Given the description of an element on the screen output the (x, y) to click on. 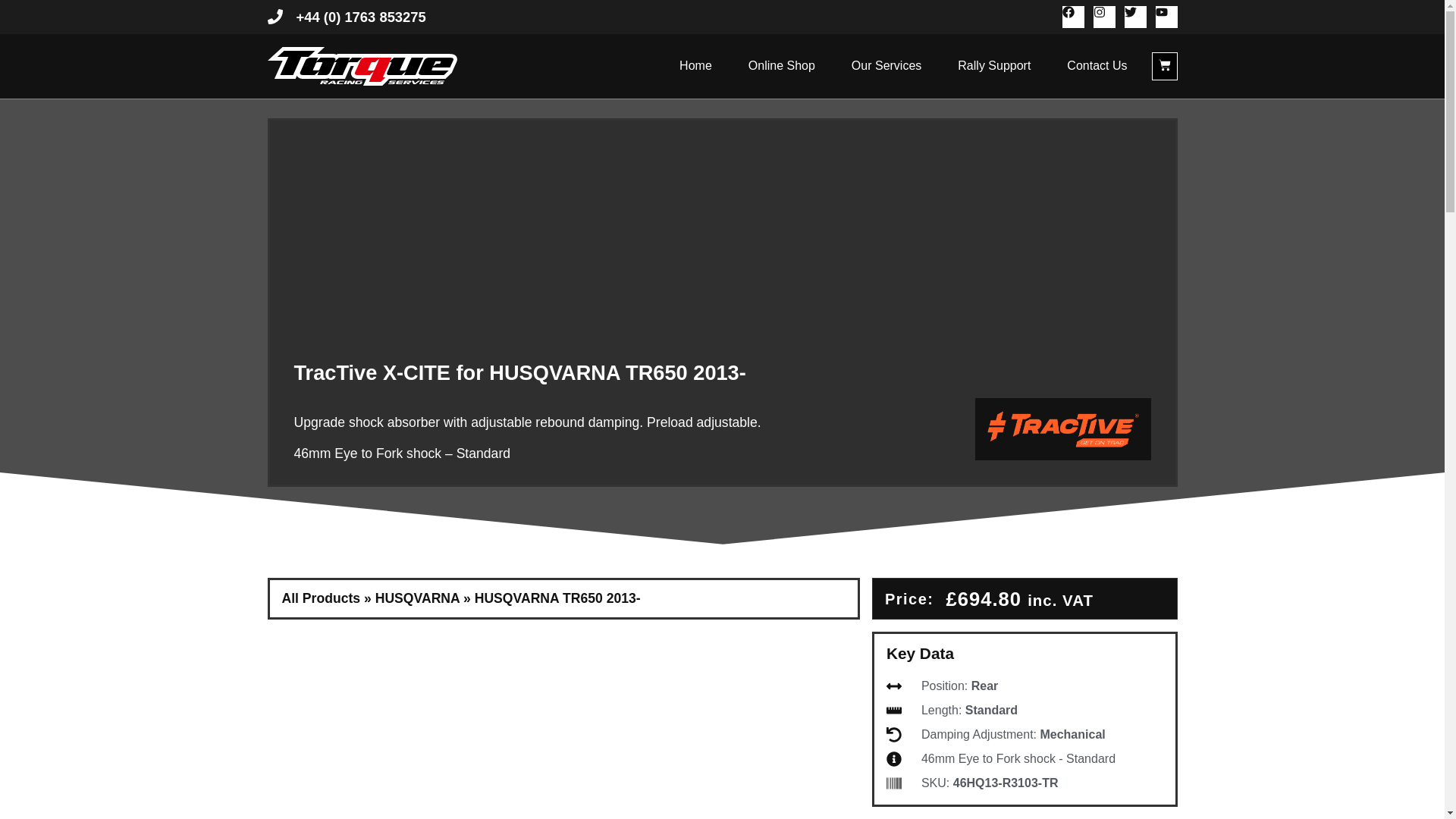
Online Shop (781, 65)
Contact Us (1096, 65)
Rally Support (994, 65)
HUSQVARNA TR650 2013- (557, 598)
All Products (321, 598)
HUSQVARNA (417, 598)
Our Services (886, 65)
Home (695, 65)
